Given the description of an element on the screen output the (x, y) to click on. 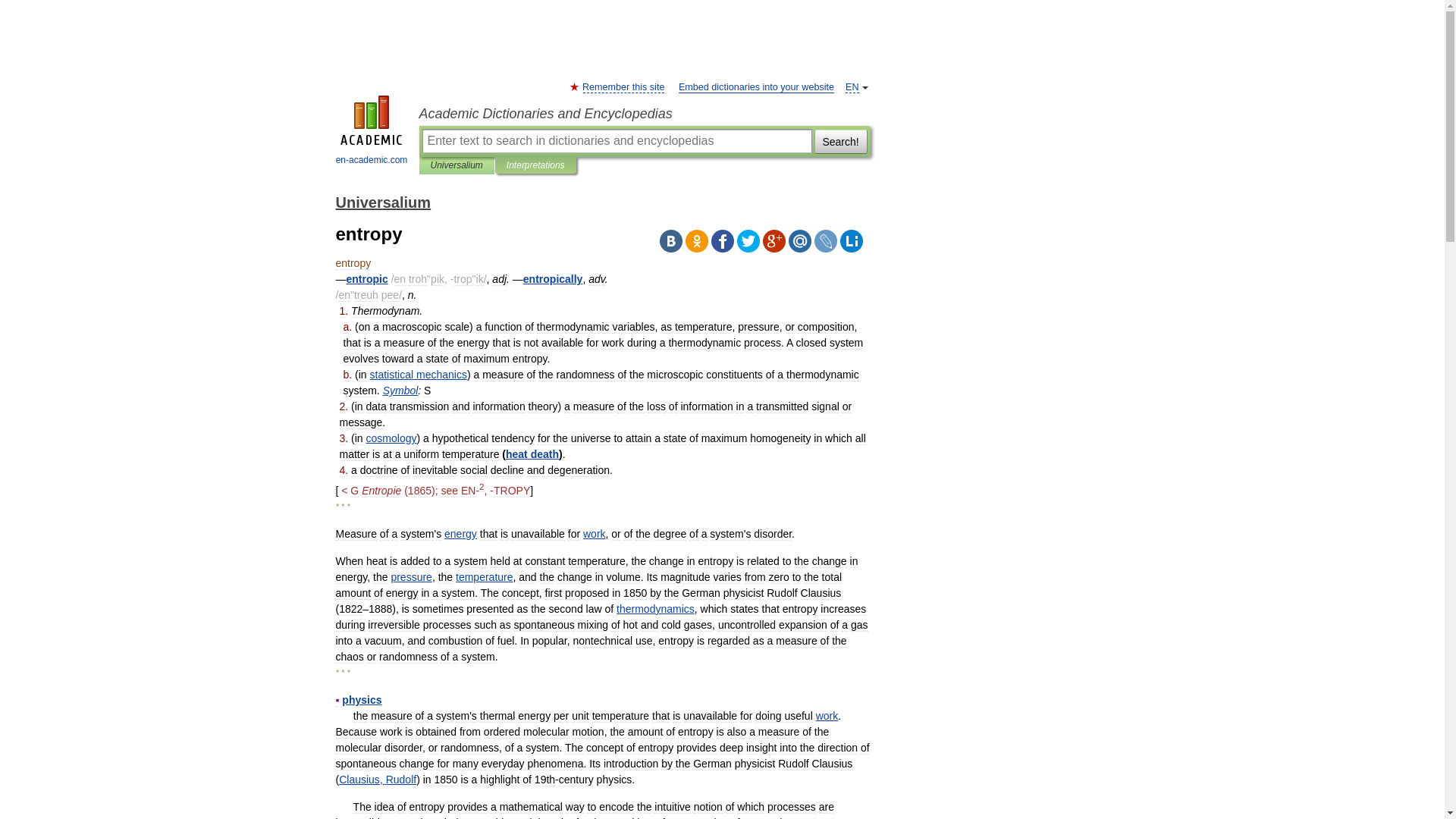
Clausius, Rudolf (377, 779)
Universalium (456, 165)
Search! (840, 140)
statistical mechanics (418, 374)
temperature (483, 576)
Academic Dictionaries and Encyclopedias (644, 114)
physics (361, 699)
EN (852, 87)
entropically (552, 278)
Enter text to search in dictionaries and encyclopedias (616, 140)
Remember this site (623, 87)
work (594, 533)
energy (460, 533)
en-academic.com (371, 131)
